Given the description of an element on the screen output the (x, y) to click on. 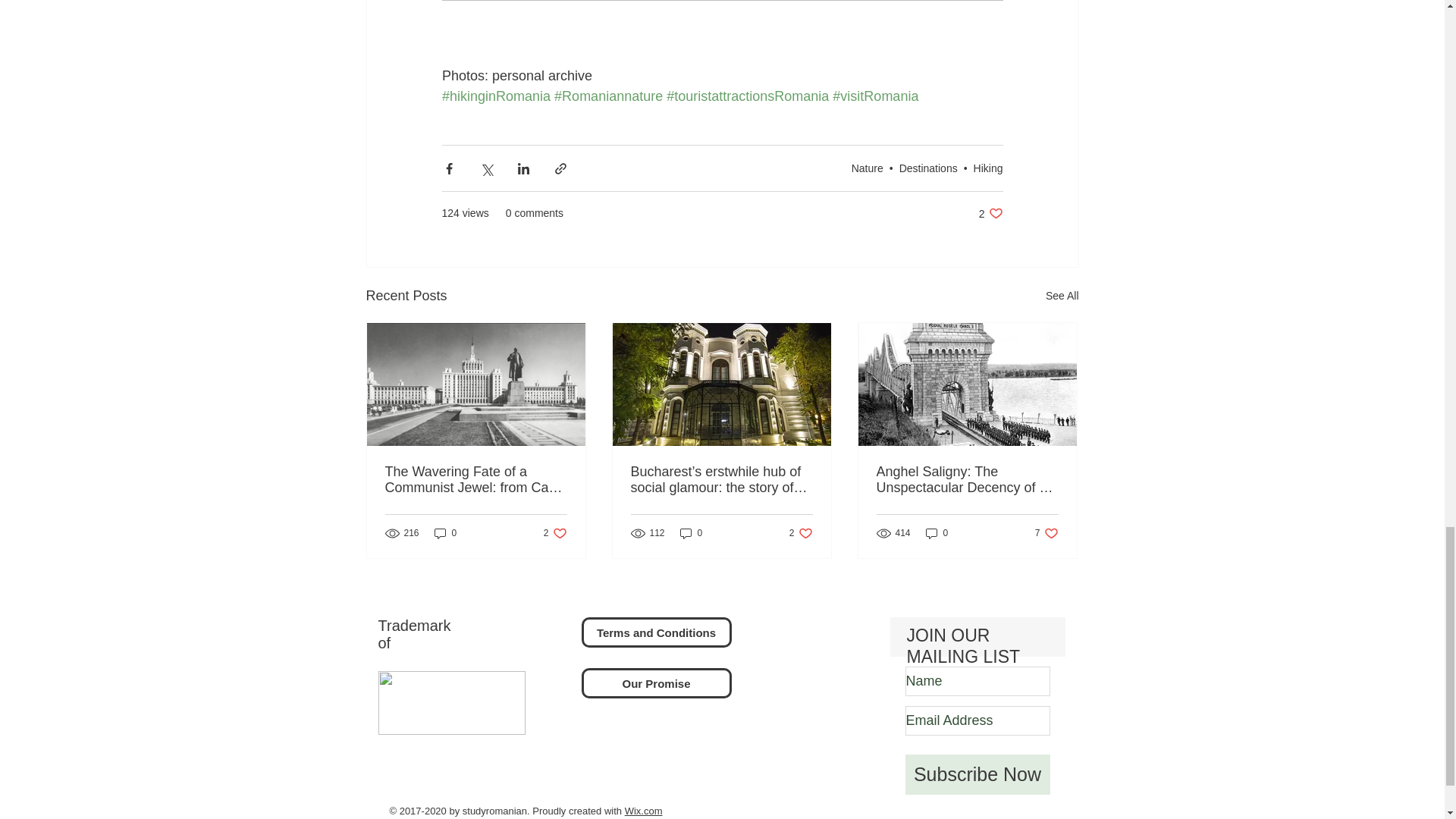
Nature (867, 168)
Hiking (988, 168)
See All (1061, 296)
Destinations (928, 168)
